Given the description of an element on the screen output the (x, y) to click on. 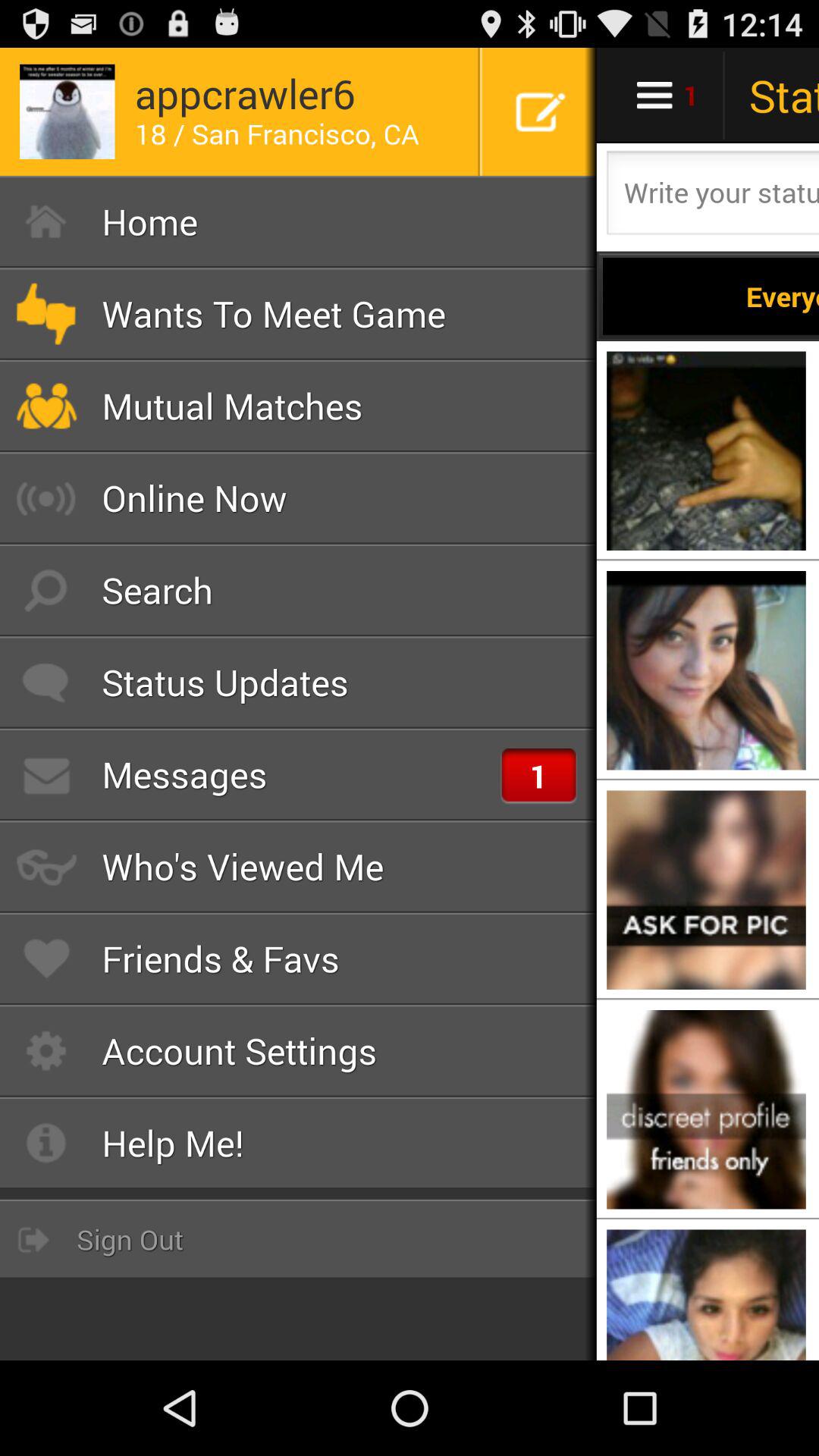
flip until the messages icon (298, 774)
